Given the description of an element on the screen output the (x, y) to click on. 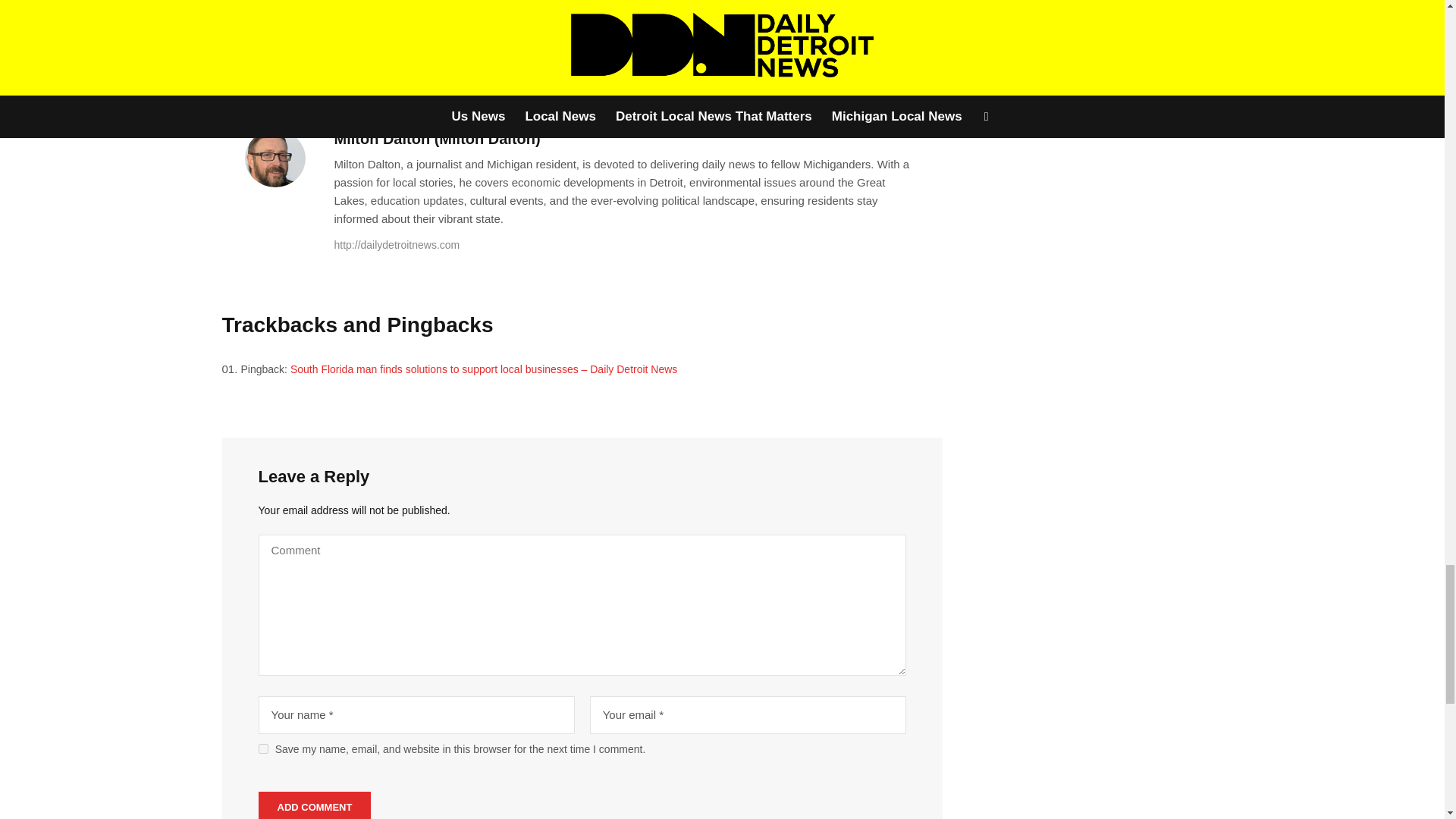
Add Comment (315, 805)
yes (263, 748)
